Given the description of an element on the screen output the (x, y) to click on. 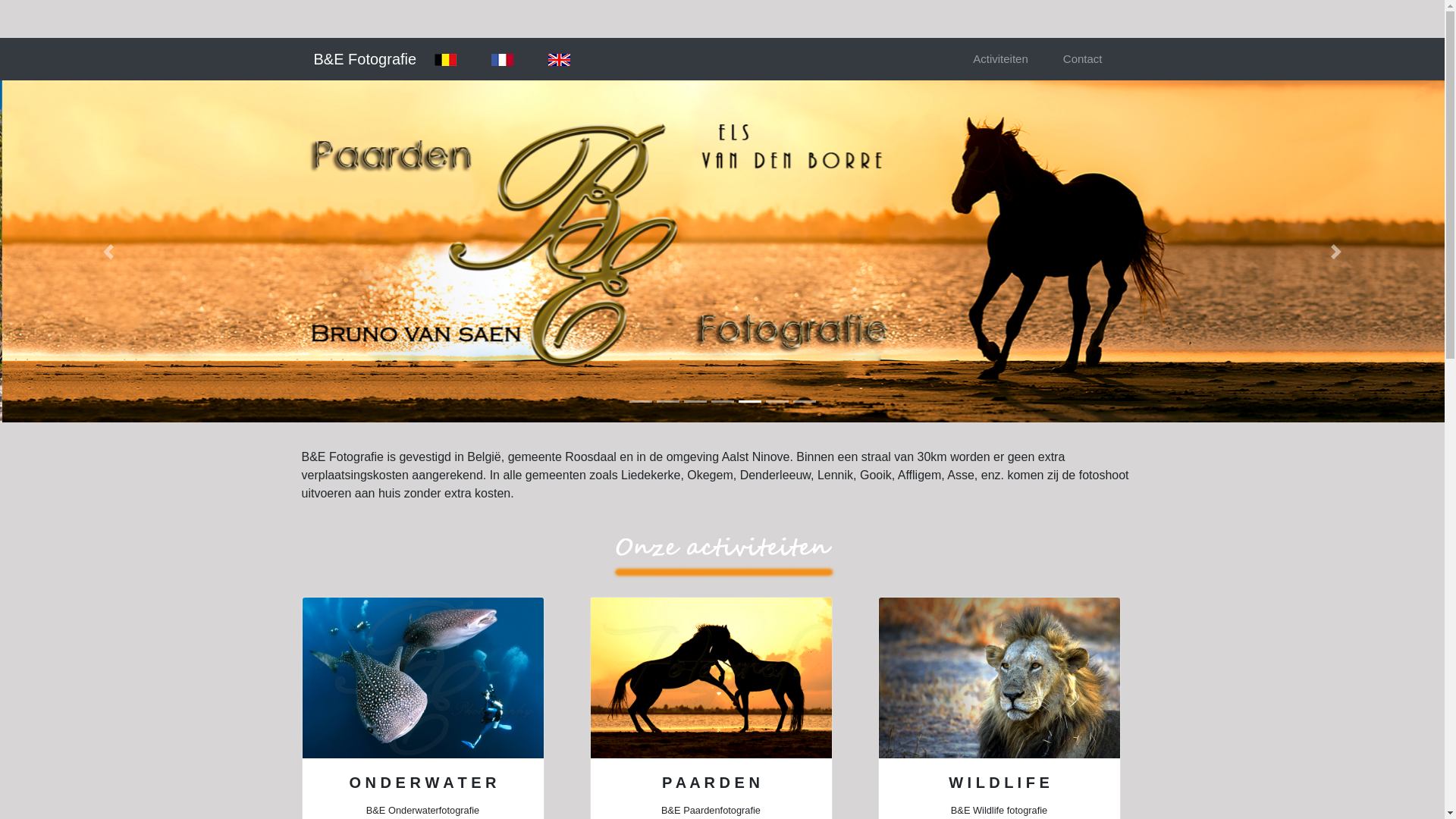
Contact Element type: text (1082, 59)
Previous Element type: text (108, 251)
B&E Fotografie Element type: text (365, 58)
Next Element type: text (1335, 251)
Activiteiten Element type: text (1000, 59)
